Given the description of an element on the screen output the (x, y) to click on. 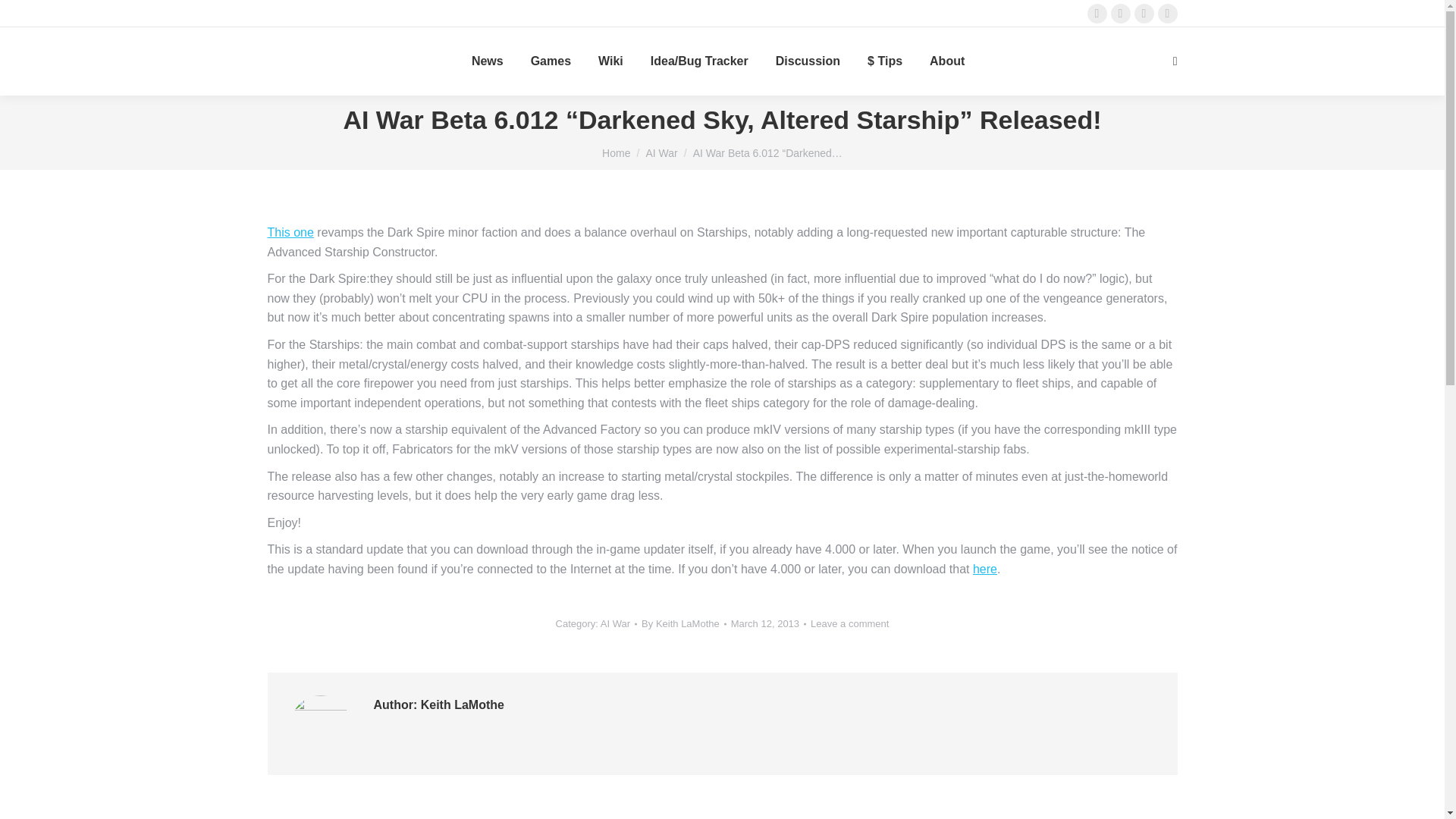
About (947, 60)
News (487, 60)
Facebook page opens in new window (1096, 13)
Website page opens in new window (1166, 13)
Discussion (808, 60)
YouTube page opens in new window (1144, 13)
Facebook page opens in new window (1096, 13)
Twitter page opens in new window (1119, 13)
Games (550, 60)
Twitter page opens in new window (1119, 13)
Website page opens in new window (1166, 13)
YouTube page opens in new window (1144, 13)
